Given the description of an element on the screen output the (x, y) to click on. 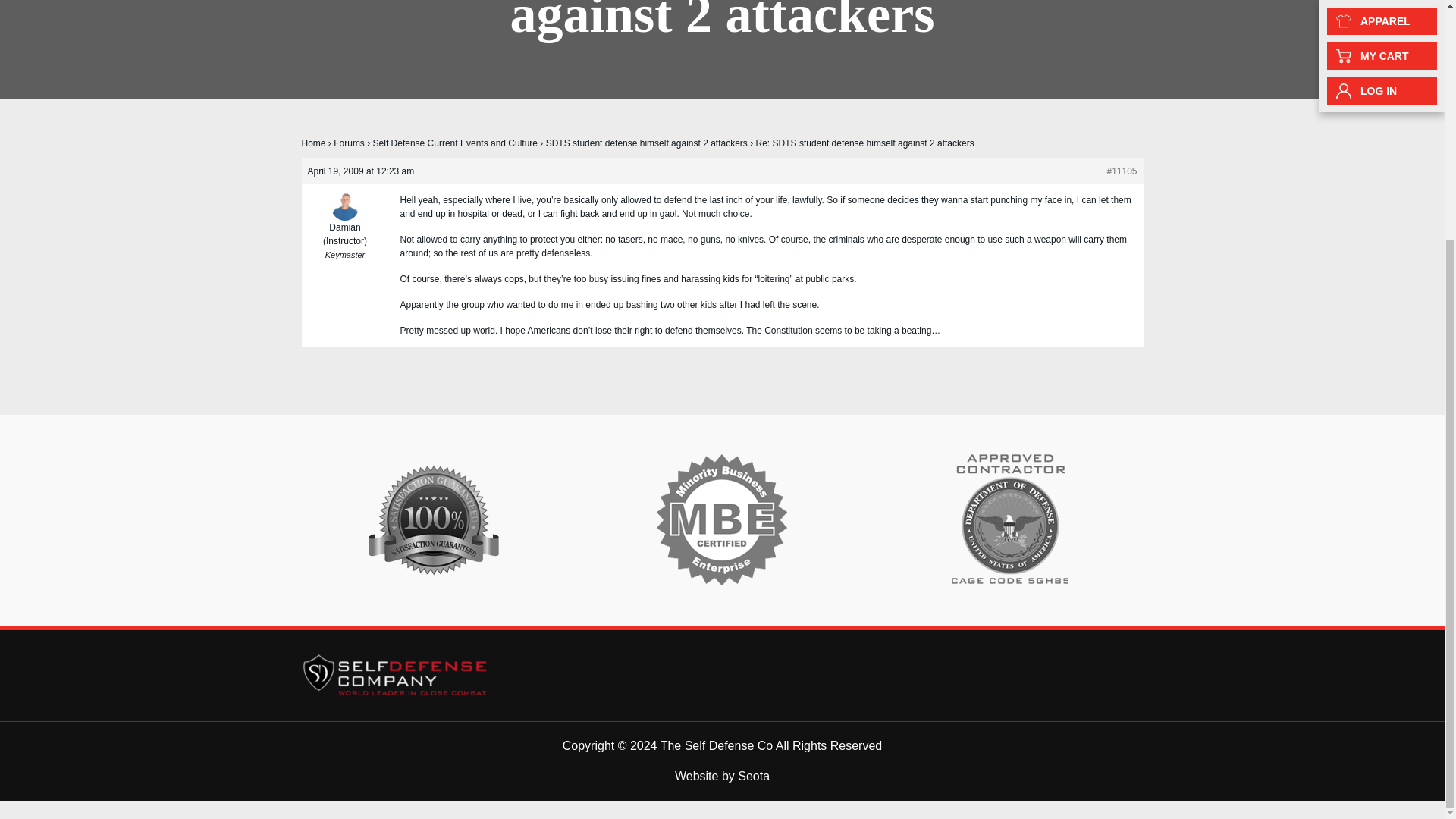
Home (313, 143)
SDTS student defense himself against 2 attackers (647, 143)
Forums (349, 143)
The Self Defense Company (396, 674)
Website by Seota (722, 775)
Self Defense Current Events and Culture (454, 143)
